Given the description of an element on the screen output the (x, y) to click on. 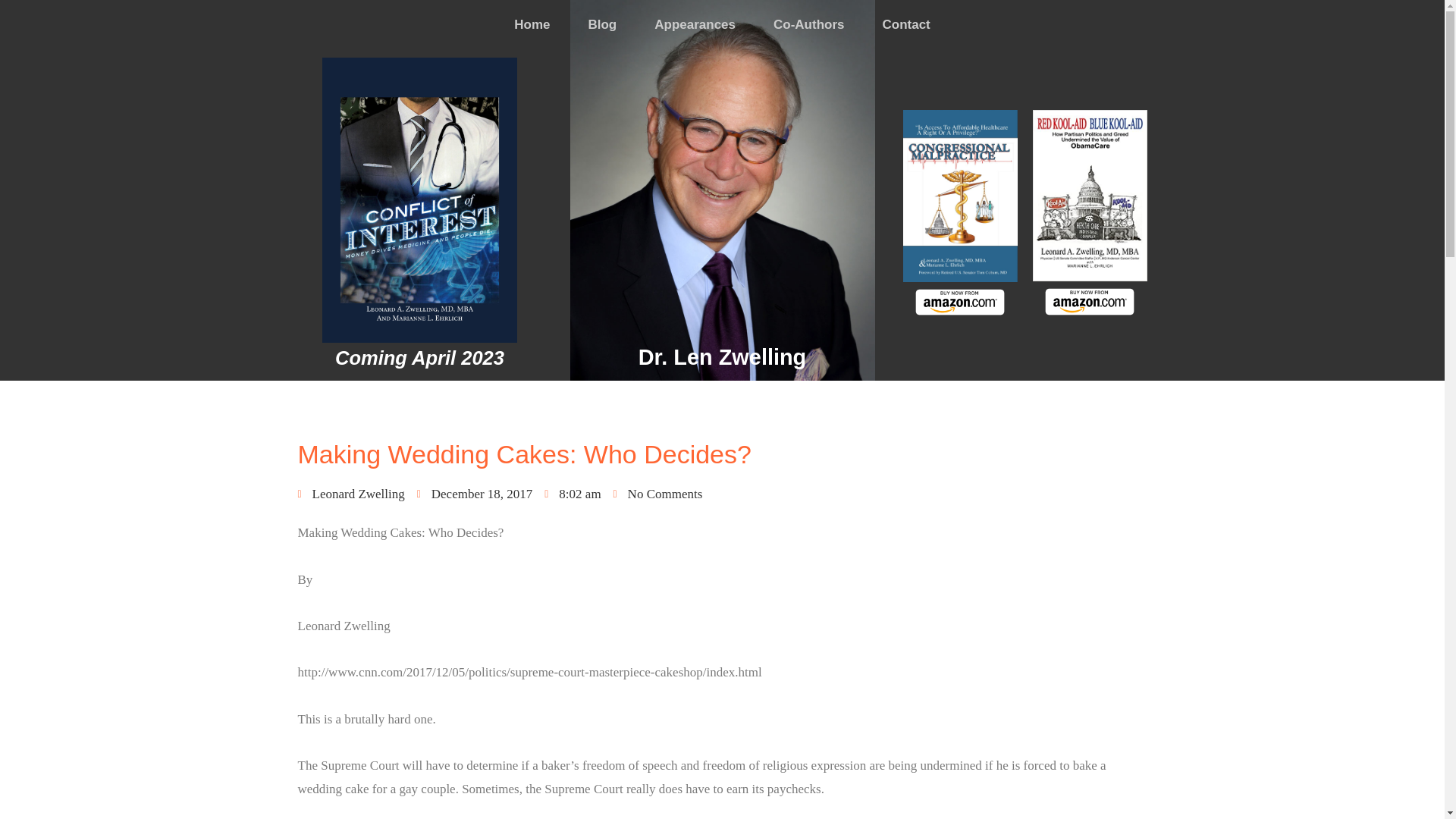
Appearances (695, 24)
Blog (601, 24)
Co-Authors (808, 24)
Leonard Zwelling (350, 494)
December 18, 2017 (474, 494)
No Comments (657, 494)
Contact (905, 24)
Home (531, 24)
Dr. Len Zwelling (722, 356)
